Given the description of an element on the screen output the (x, y) to click on. 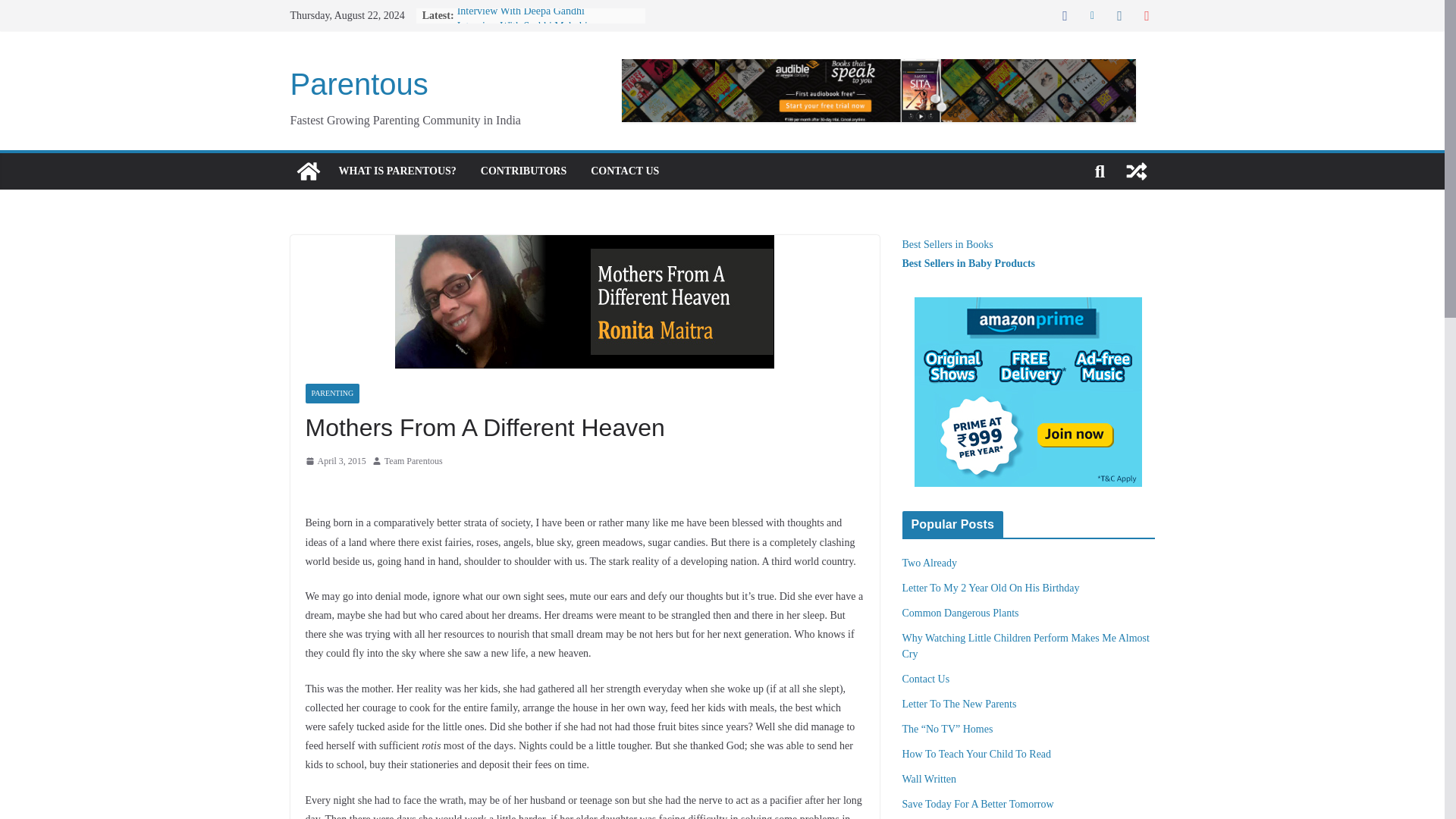
Parentous (307, 171)
View a random post (1136, 171)
Team Parentous (413, 461)
CONTACT US (625, 170)
Interview With Deepa Gandhi (521, 10)
Parentous (358, 83)
PARENTING (331, 393)
Interview With Deepa Gandhi (521, 10)
WHAT IS PARENTOUS? (396, 170)
Interview With Surbhi Mahobia (524, 25)
